Given the description of an element on the screen output the (x, y) to click on. 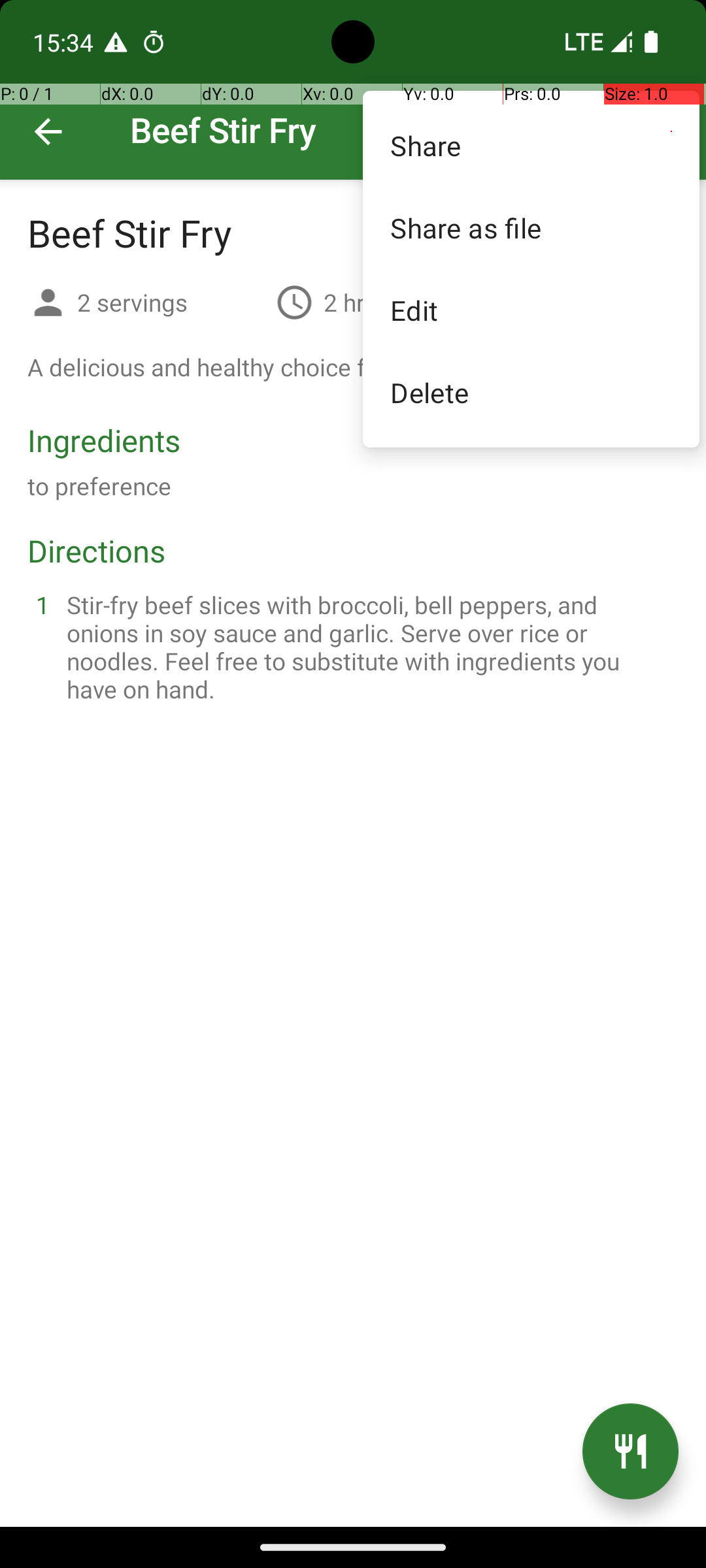
Share as file Element type: android.widget.TextView (531, 227)
Edit Element type: android.widget.TextView (531, 309)
